Given the description of an element on the screen output the (x, y) to click on. 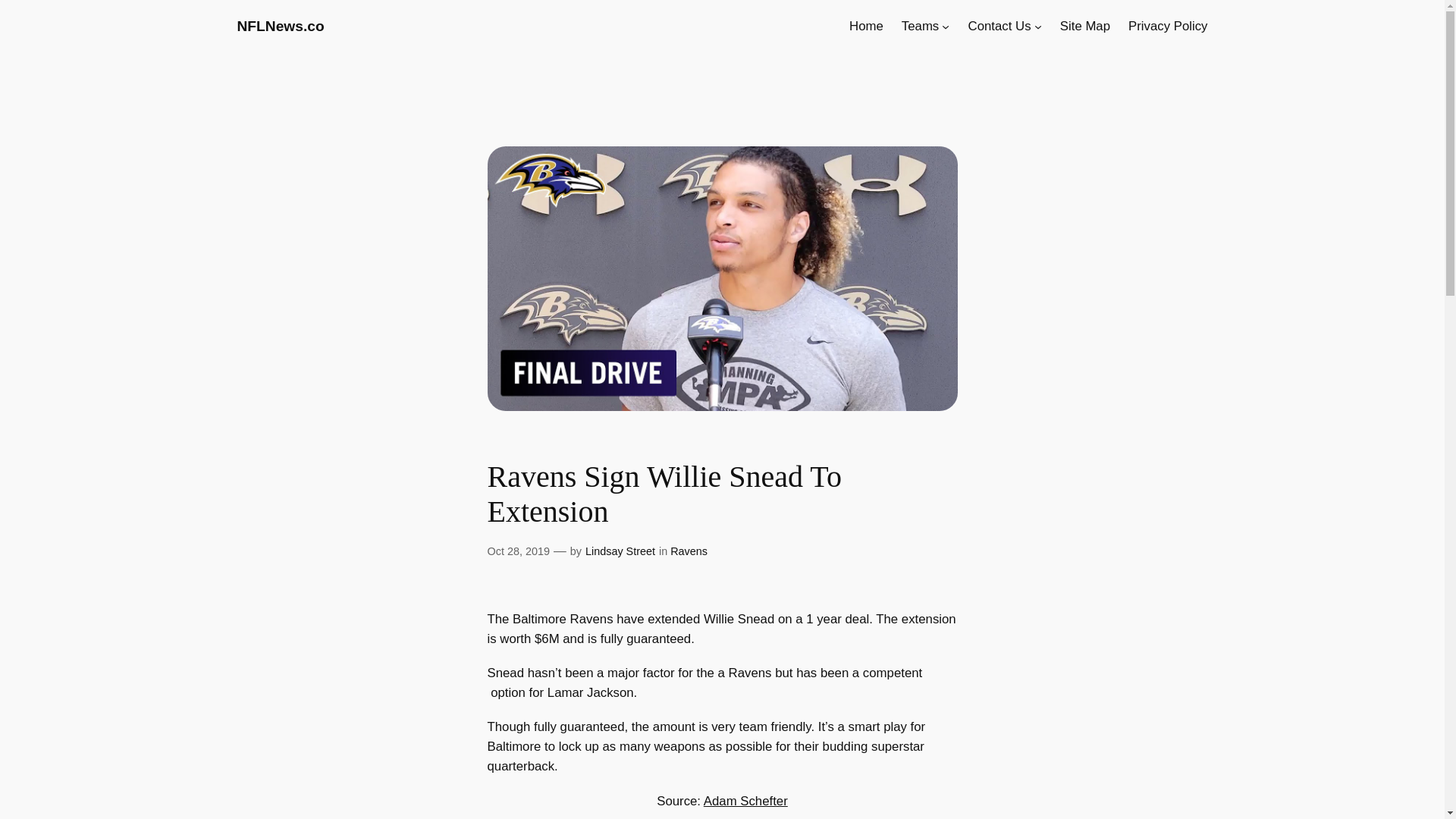
Home (865, 26)
NFLNews.co (279, 26)
Teams (920, 26)
